Given the description of an element on the screen output the (x, y) to click on. 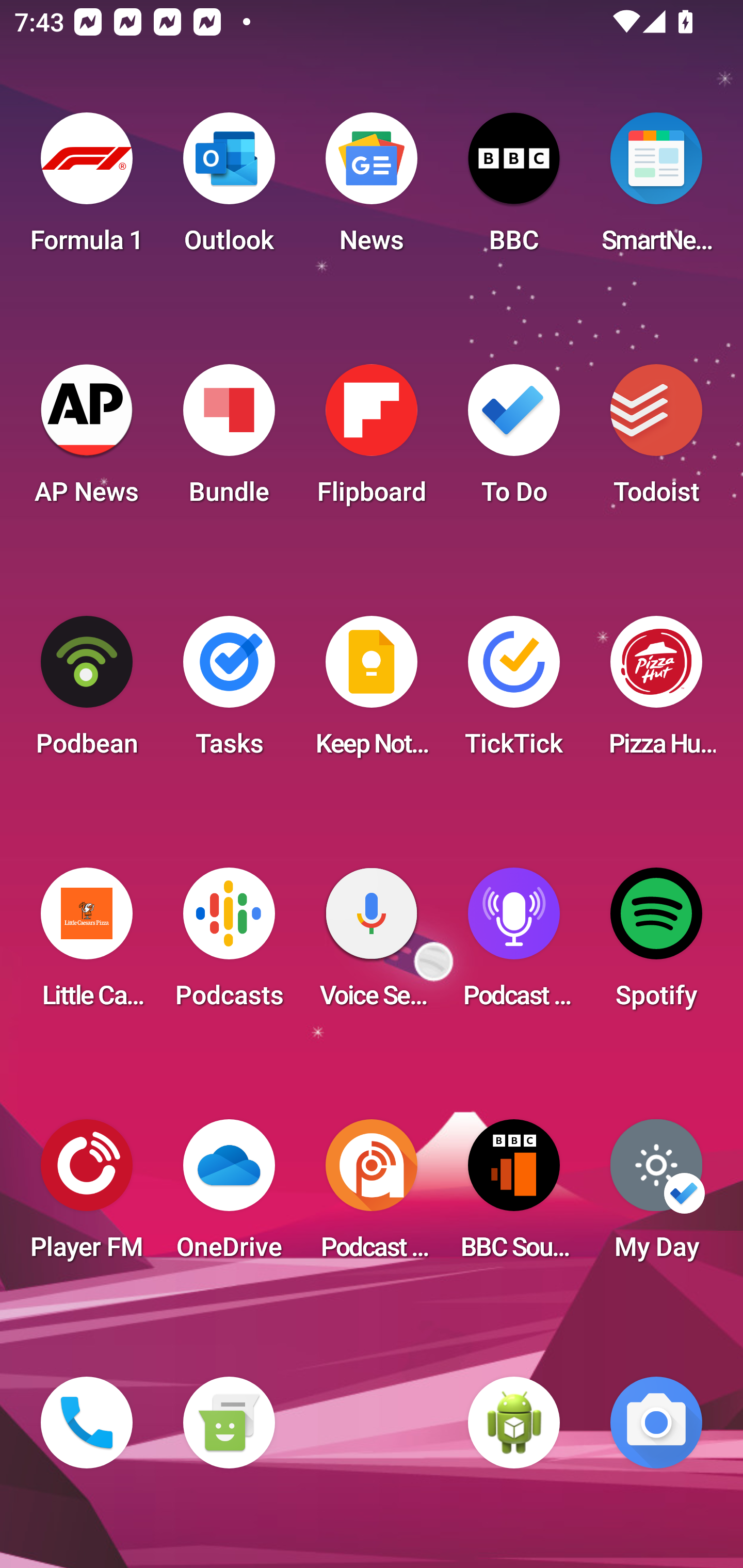
Formula 1 (86, 188)
Outlook (228, 188)
News (371, 188)
BBC (513, 188)
SmartNews (656, 188)
AP News (86, 440)
Bundle (228, 440)
Flipboard (371, 440)
To Do (513, 440)
Todoist (656, 440)
Podbean (86, 692)
Tasks (228, 692)
Keep Notes (371, 692)
TickTick (513, 692)
Pizza Hut HK & Macau (656, 692)
Little Caesars Pizza (86, 943)
Podcasts (228, 943)
Voice Search (371, 943)
Podcast Player (513, 943)
Spotify (656, 943)
Player FM (86, 1195)
OneDrive (228, 1195)
Podcast Addict (371, 1195)
BBC Sounds (513, 1195)
My Day (656, 1195)
Phone (86, 1422)
Messaging (228, 1422)
WebView Browser Tester (513, 1422)
Camera (656, 1422)
